Given the description of an element on the screen output the (x, y) to click on. 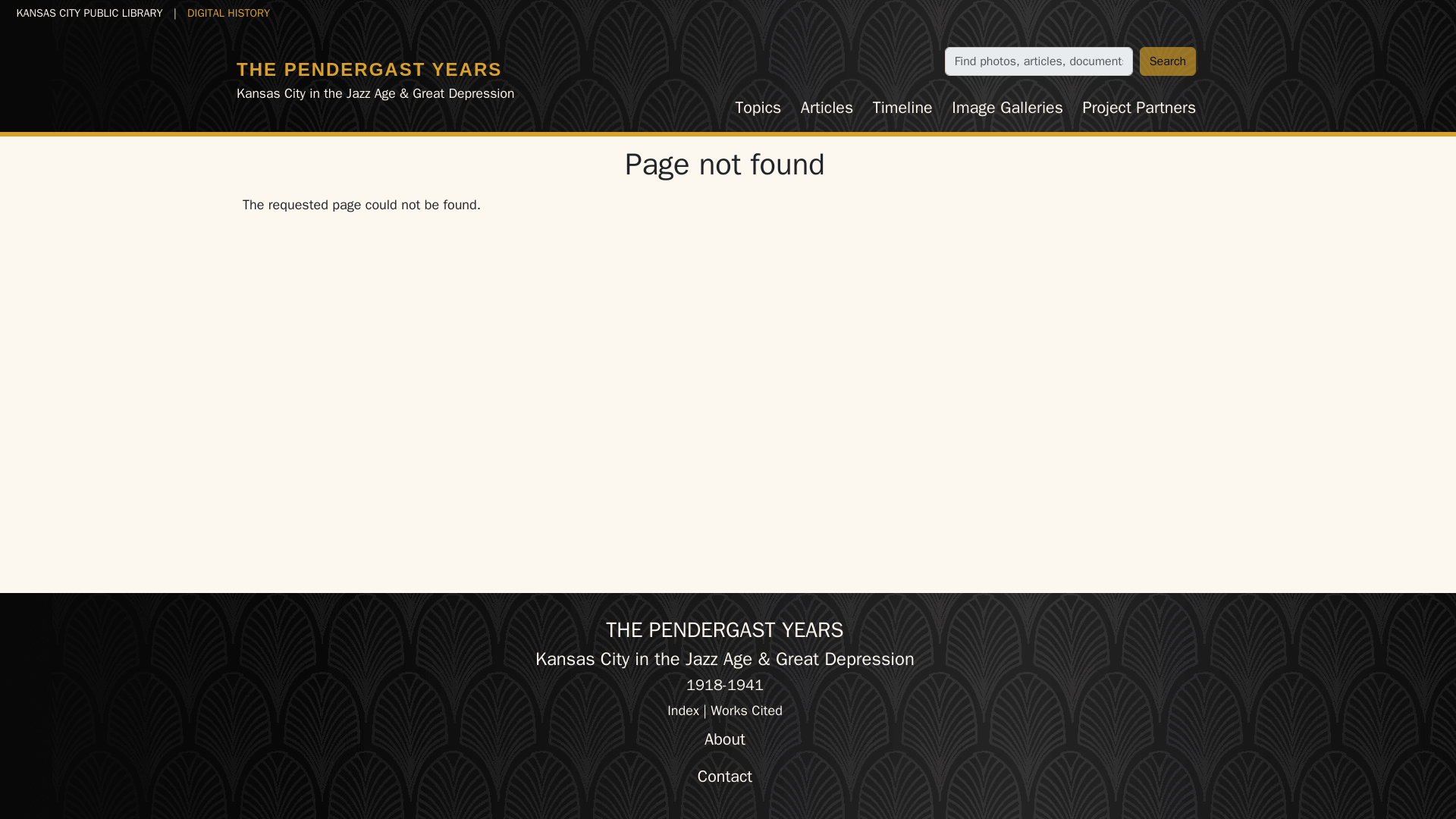
Skip to main content (67, 11)
Index (682, 710)
Image Galleries (1007, 107)
Contact (725, 776)
Home (368, 68)
Works Cited (746, 710)
About (725, 739)
Project Partners (1139, 107)
Timeline (902, 107)
Search (1168, 61)
Search (1168, 61)
Topics (757, 107)
Articles (826, 107)
DIGITAL HISTORY (228, 12)
THE PENDERGAST YEARS (368, 68)
